Given the description of an element on the screen output the (x, y) to click on. 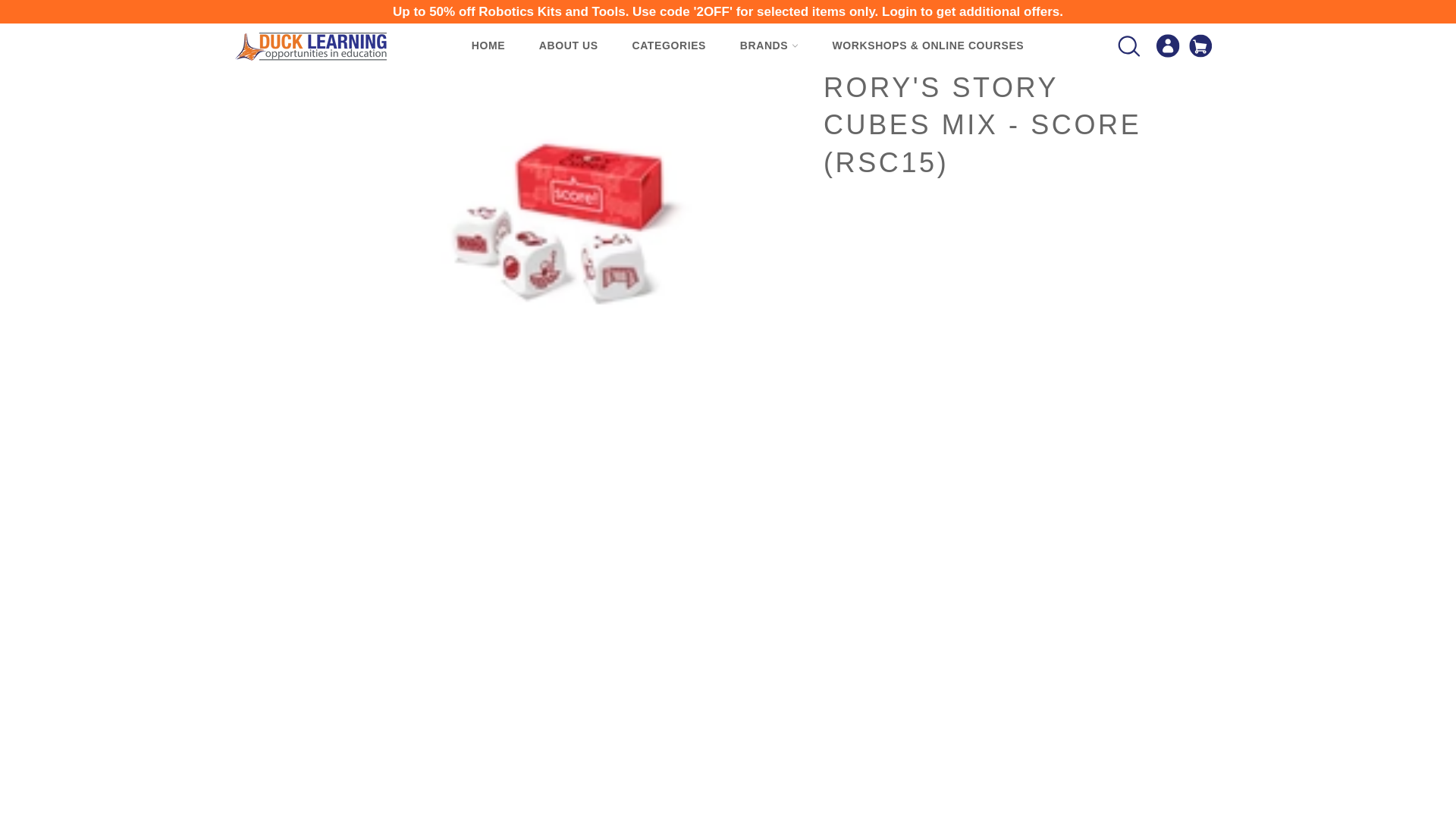
BRANDS (769, 45)
CATEGORIES (667, 45)
ABOUT US (568, 45)
HOME (488, 45)
Cart (1200, 46)
Search (1127, 45)
